Given the description of an element on the screen output the (x, y) to click on. 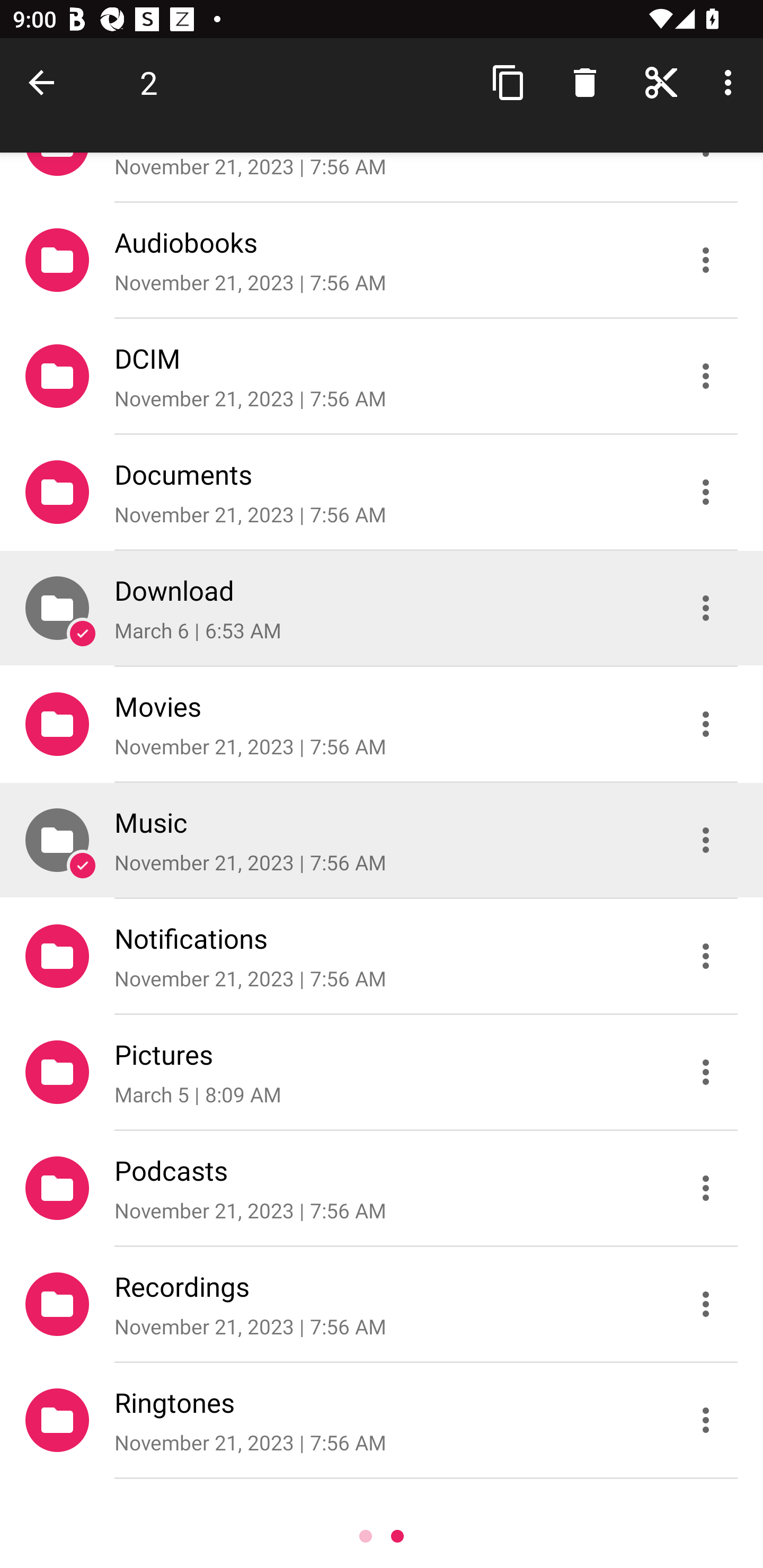
2 (148, 82)
Done (44, 81)
Copy (508, 81)
Delete (585, 81)
Cut (661, 81)
More options (731, 81)
Audiobooks November 21, 2023 | 7:56 AM (381, 259)
DCIM November 21, 2023 | 7:56 AM (381, 375)
Documents November 21, 2023 | 7:56 AM (381, 491)
Download March 6 | 6:53 AM (381, 607)
Movies November 21, 2023 | 7:56 AM (381, 723)
Music November 21, 2023 | 7:56 AM (381, 839)
Notifications November 21, 2023 | 7:56 AM (381, 955)
Pictures March 5 | 8:09 AM (381, 1071)
Podcasts November 21, 2023 | 7:56 AM (381, 1187)
Recordings November 21, 2023 | 7:56 AM (381, 1303)
Ringtones November 21, 2023 | 7:56 AM (381, 1419)
